Given the description of an element on the screen output the (x, y) to click on. 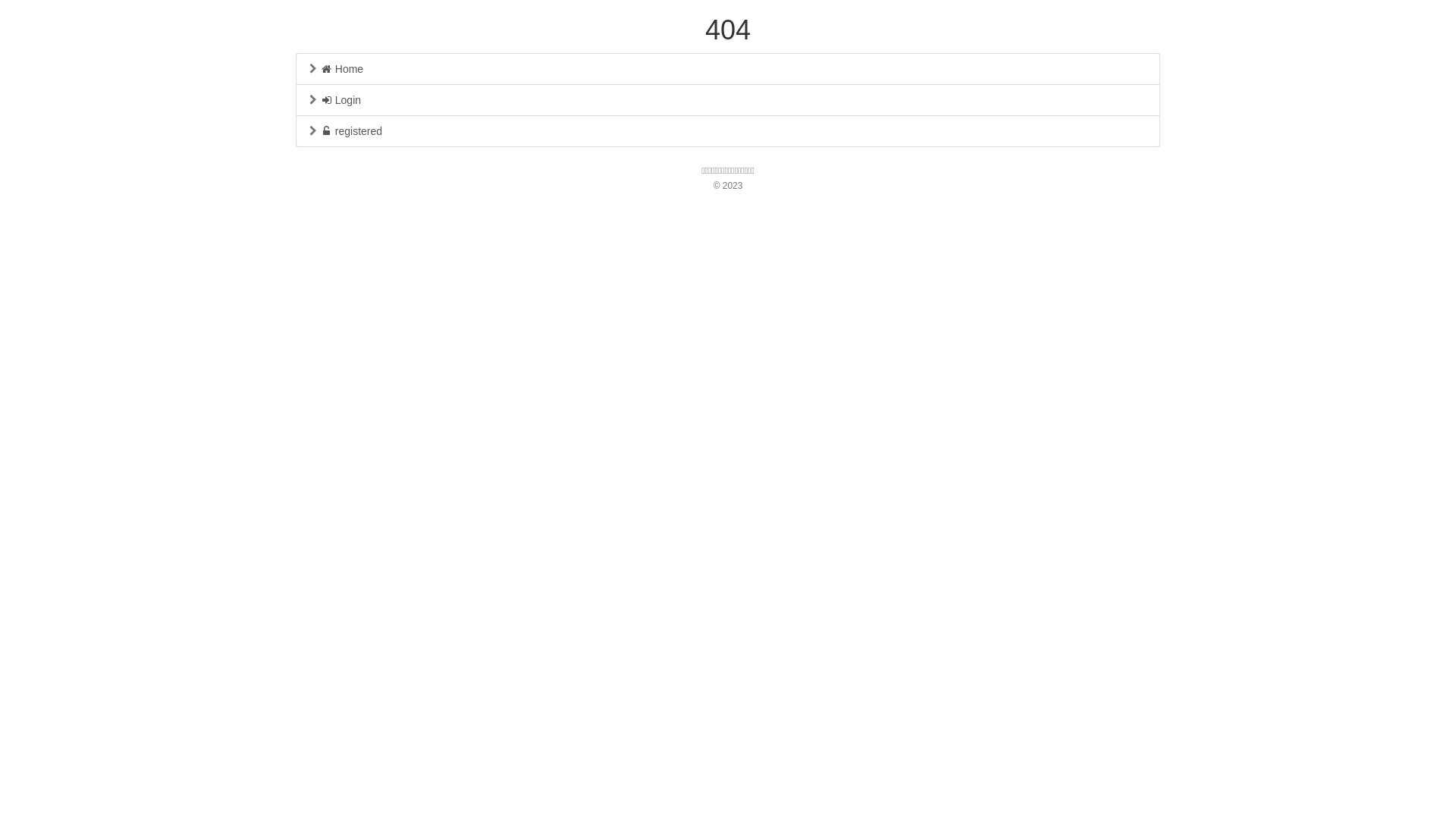
 Login Element type: text (727, 100)
 Home Element type: text (727, 68)
 registered Element type: text (727, 131)
